Given the description of an element on the screen output the (x, y) to click on. 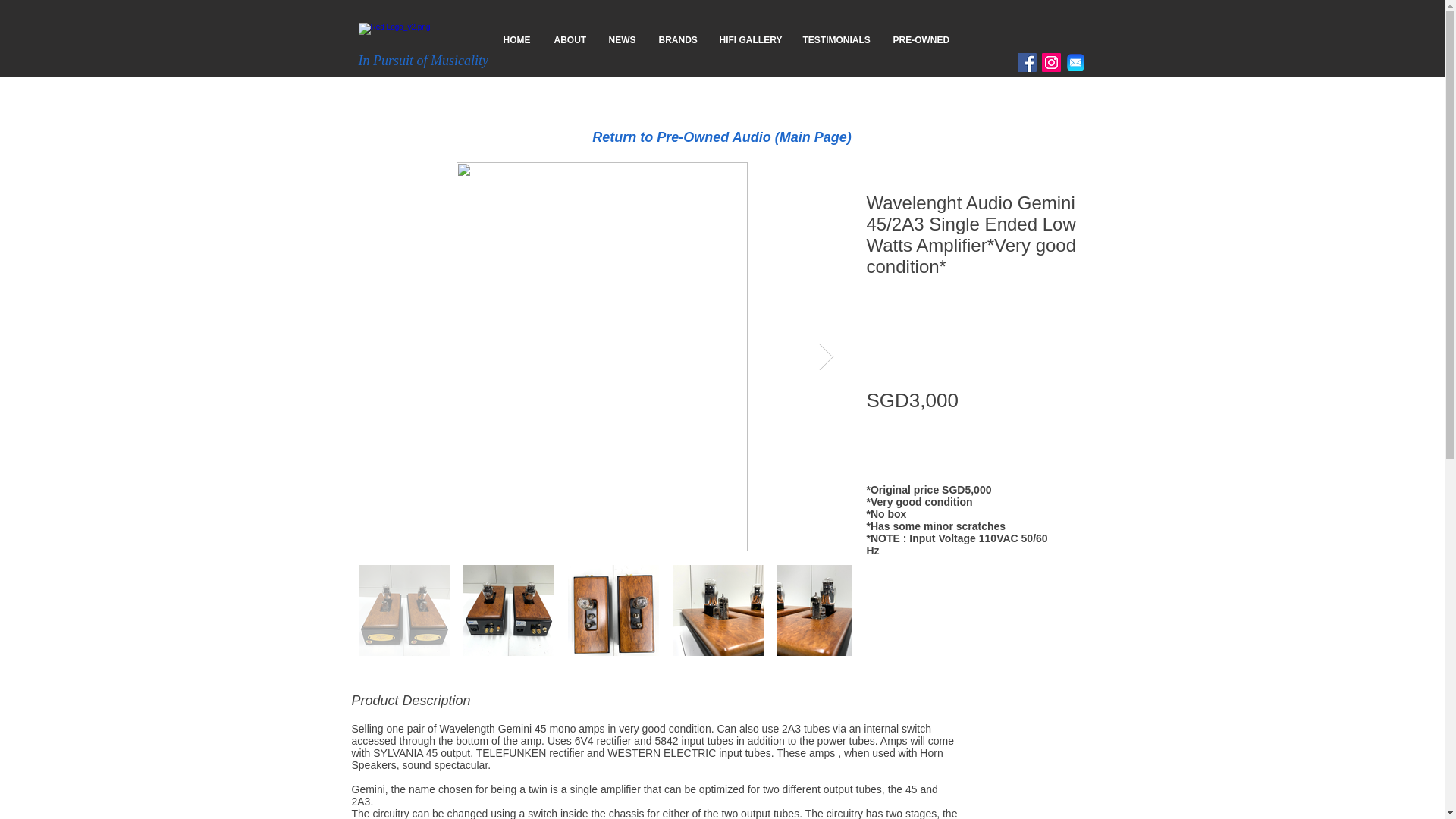
NEWS (621, 39)
TESTIMONIALS (837, 39)
HIFI GALLERY (749, 39)
HOME (516, 39)
PRE-OWNED (920, 39)
BRANDS (677, 39)
ABOUT (569, 39)
